Given the description of an element on the screen output the (x, y) to click on. 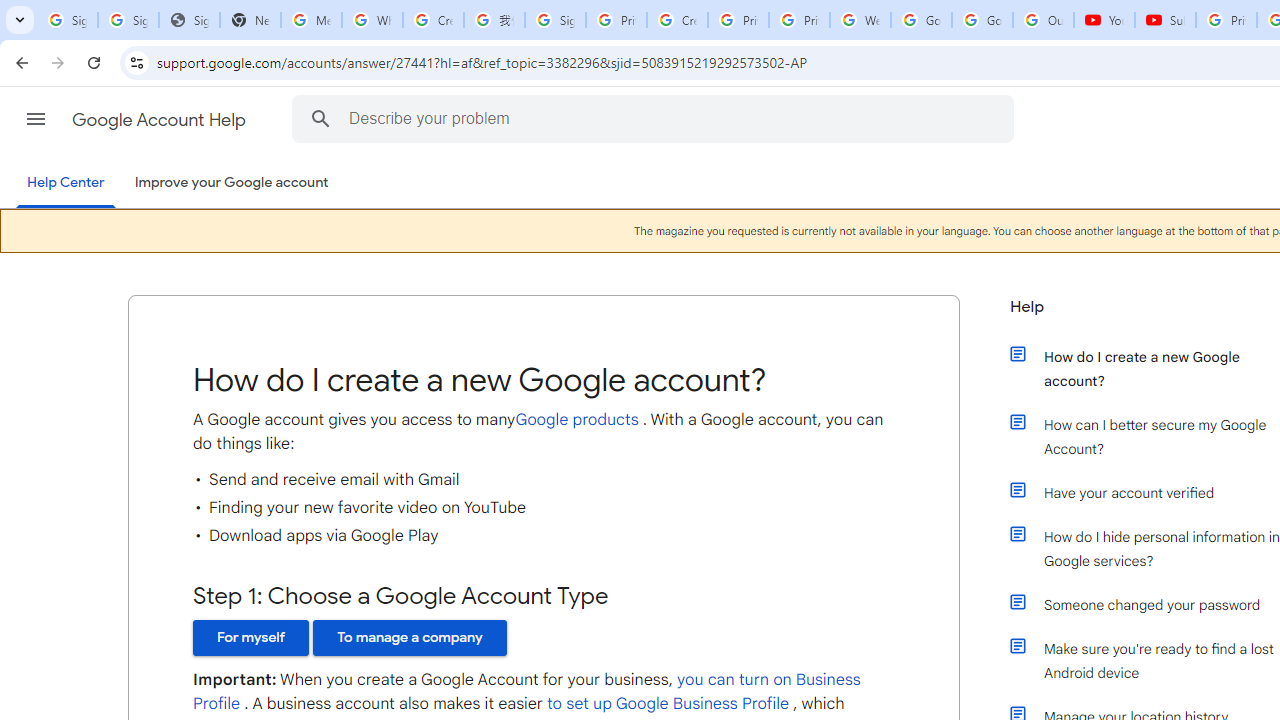
Search the Help Center (320, 118)
Help Center (65, 183)
Create your Google Account (433, 20)
Create your Google Account (676, 20)
Sign in - Google Accounts (67, 20)
Sign In - USA TODAY (189, 20)
